Given the description of an element on the screen output the (x, y) to click on. 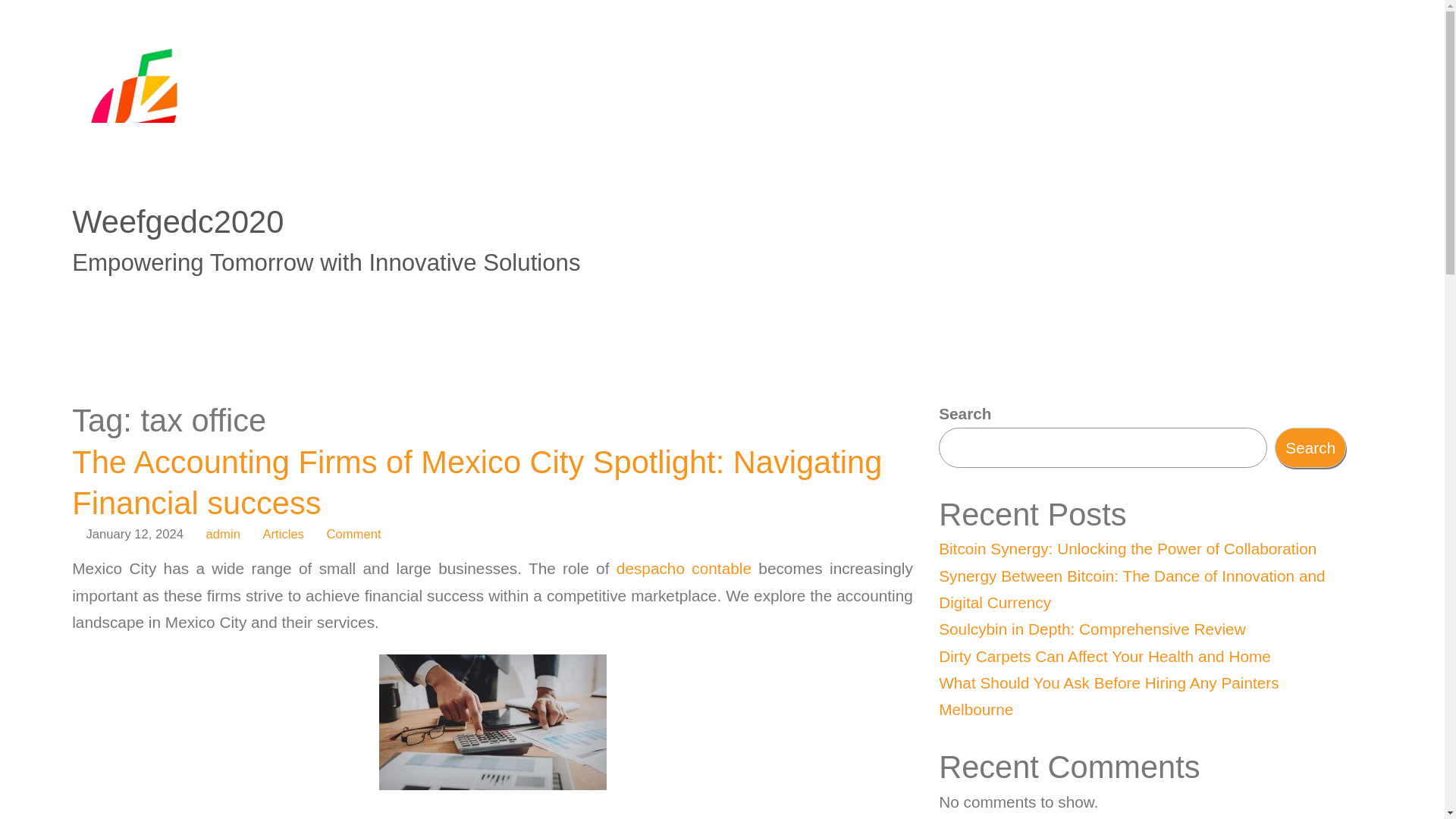
despacho contable (683, 568)
admin (223, 534)
Comment (346, 534)
Weefgedc2020 (177, 221)
Articles (283, 534)
What Should You Ask Before Hiring Any Painters Melbourne (1109, 696)
Bitcoin Synergy: Unlocking the Power of Collaboration (1127, 548)
Dirty Carpets Can Affect Your Health and Home (1105, 656)
Soulcybin in Depth: Comprehensive Review (1092, 628)
